Given the description of an element on the screen output the (x, y) to click on. 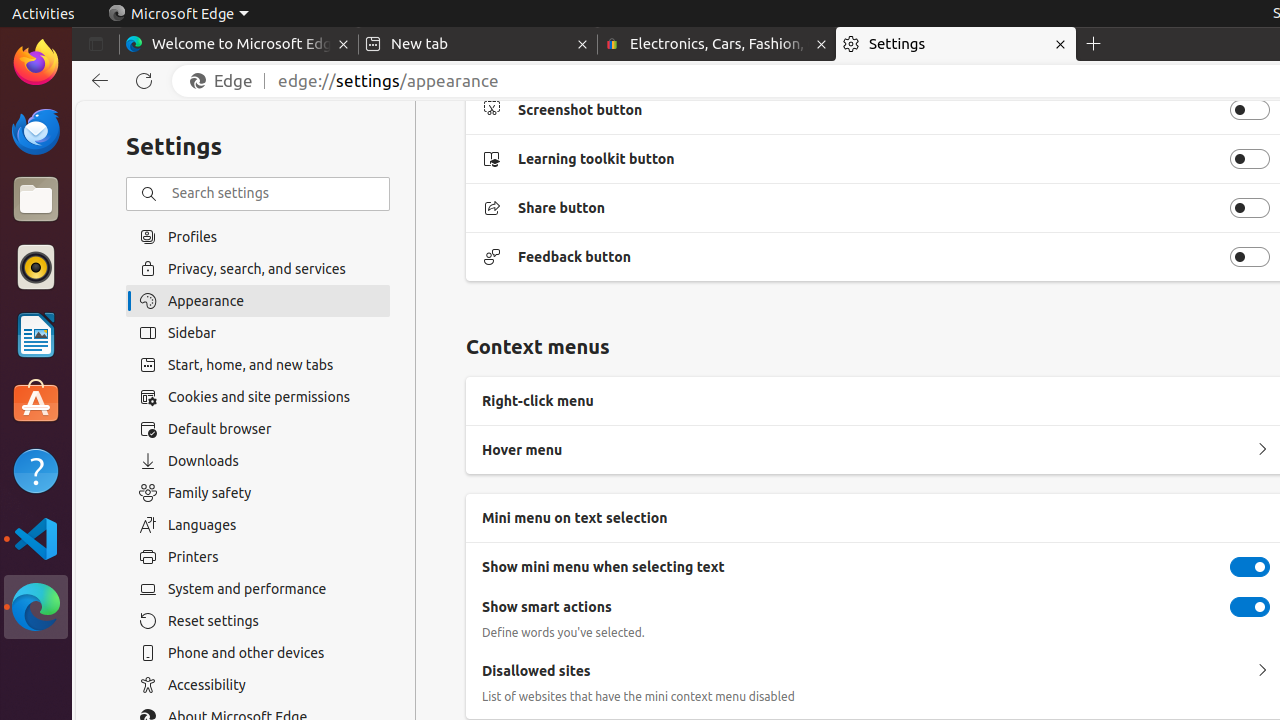
Family safety Element type: tree-item (258, 493)
System and performance Element type: tree-item (258, 589)
Close tab Element type: push-button (343, 44)
Languages Element type: tree-item (258, 525)
Tab actions menu Element type: push-button (96, 44)
